Given the description of an element on the screen output the (x, y) to click on. 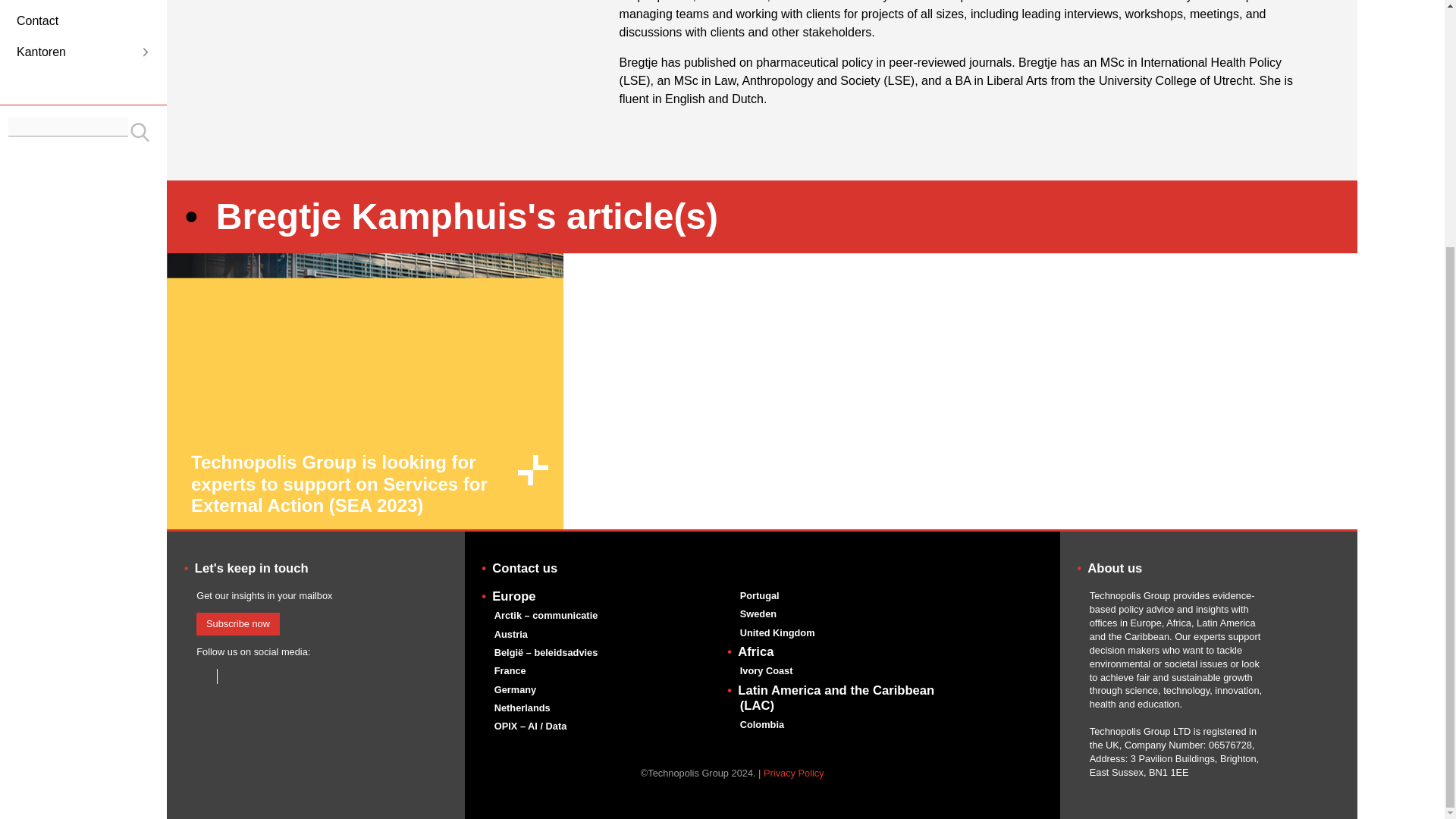
Germany (515, 689)
Twitter (229, 676)
LinkedIn (203, 676)
Austria (511, 633)
France (510, 670)
